Given the description of an element on the screen output the (x, y) to click on. 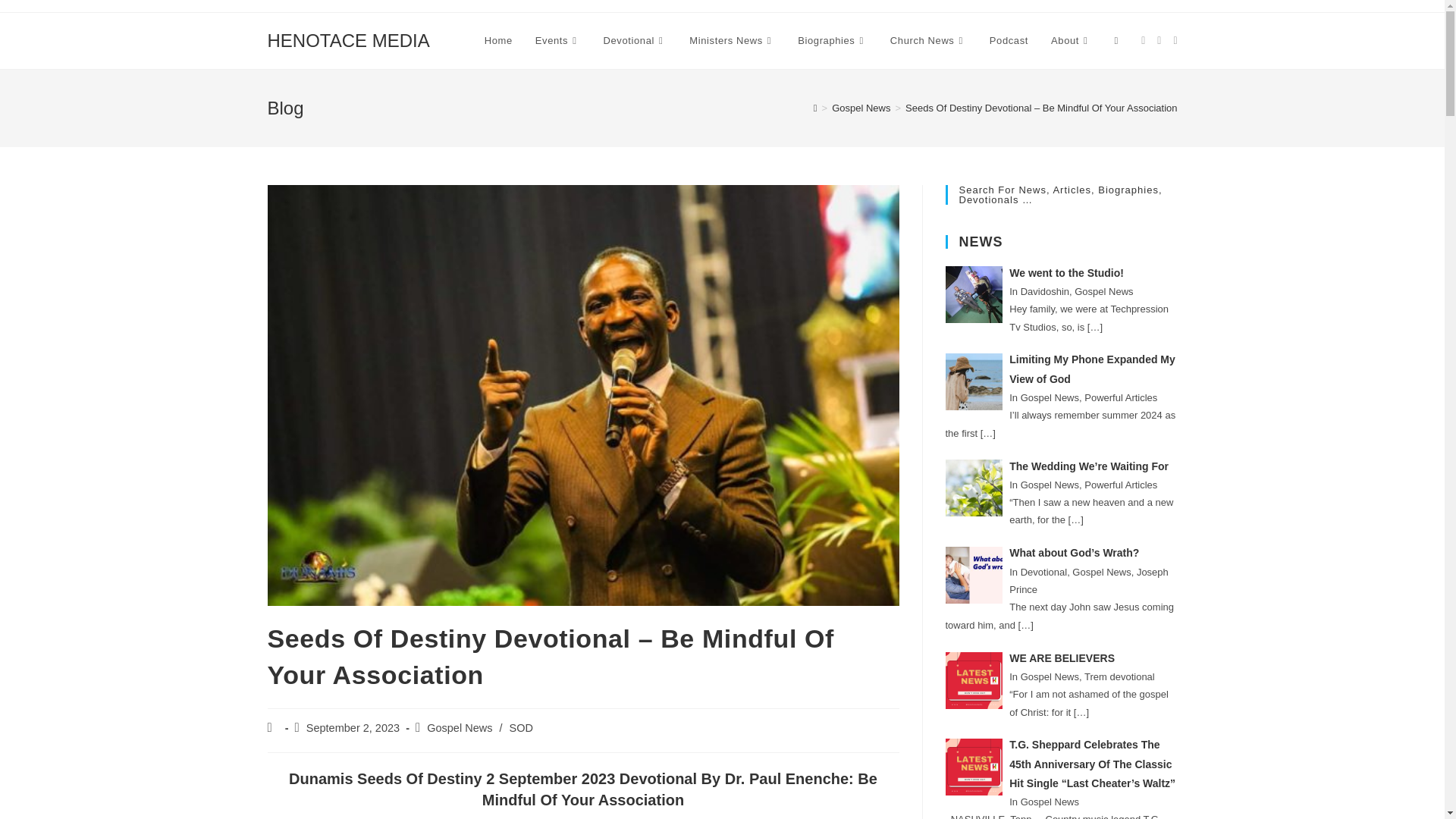
Events (558, 40)
Home (498, 40)
Ministers News (732, 40)
HENOTACE MEDIA (347, 40)
Devotional (635, 40)
Biographies (832, 40)
